Given the description of an element on the screen output the (x, y) to click on. 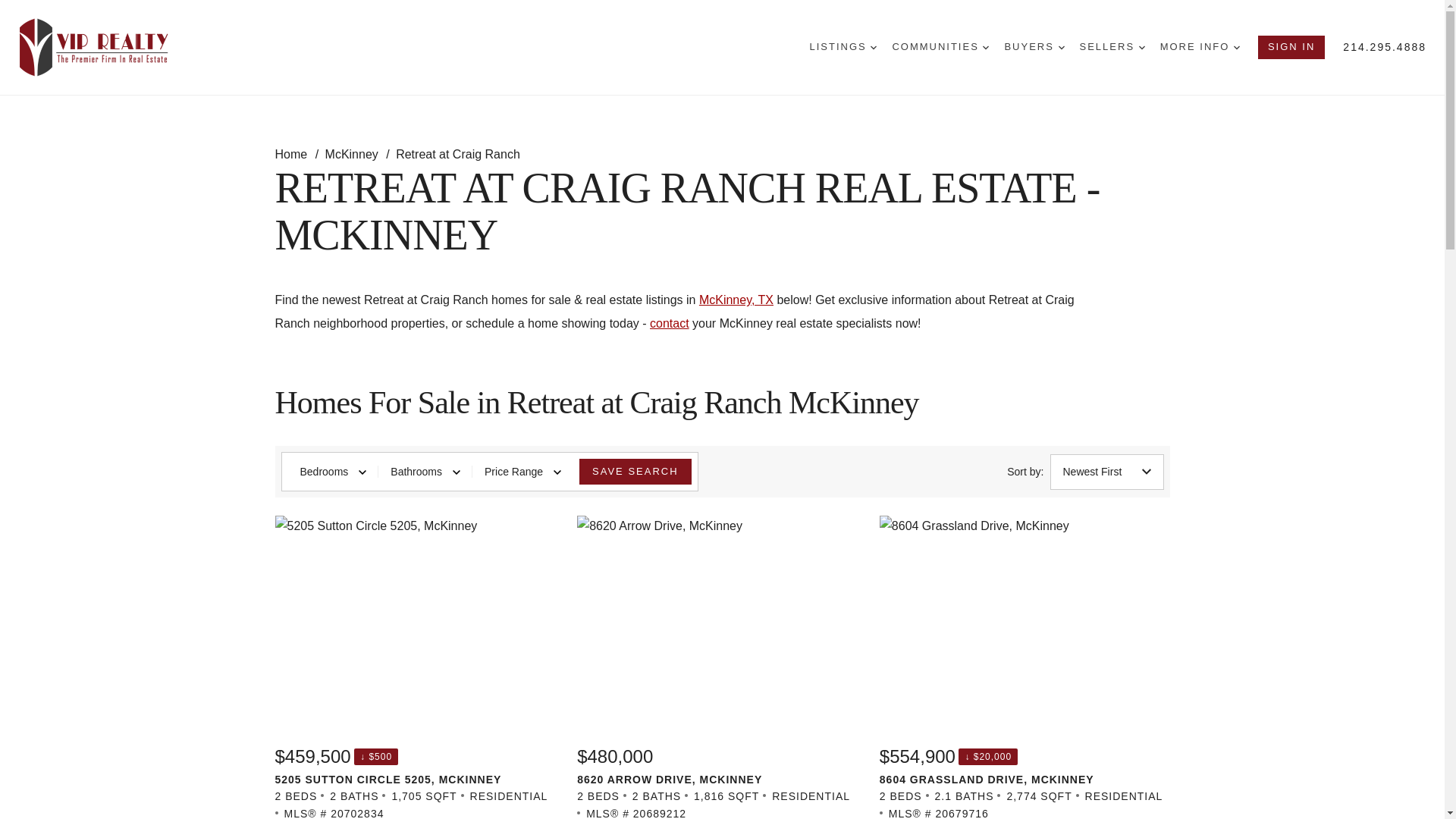
DROPDOWN ARROW (1236, 47)
BUYERS DROPDOWN ARROW (1034, 47)
SELLERS DROPDOWN ARROW (1112, 47)
COMMUNITIES DROPDOWN ARROW (939, 47)
DROPDOWN ARROW (985, 47)
LISTINGS DROPDOWN ARROW (843, 47)
DROPDOWN ARROW (873, 47)
DROPDOWN ARROW (1061, 47)
DROPDOWN ARROW (1141, 47)
MORE INFO DROPDOWN ARROW (1200, 47)
